Given the description of an element on the screen output the (x, y) to click on. 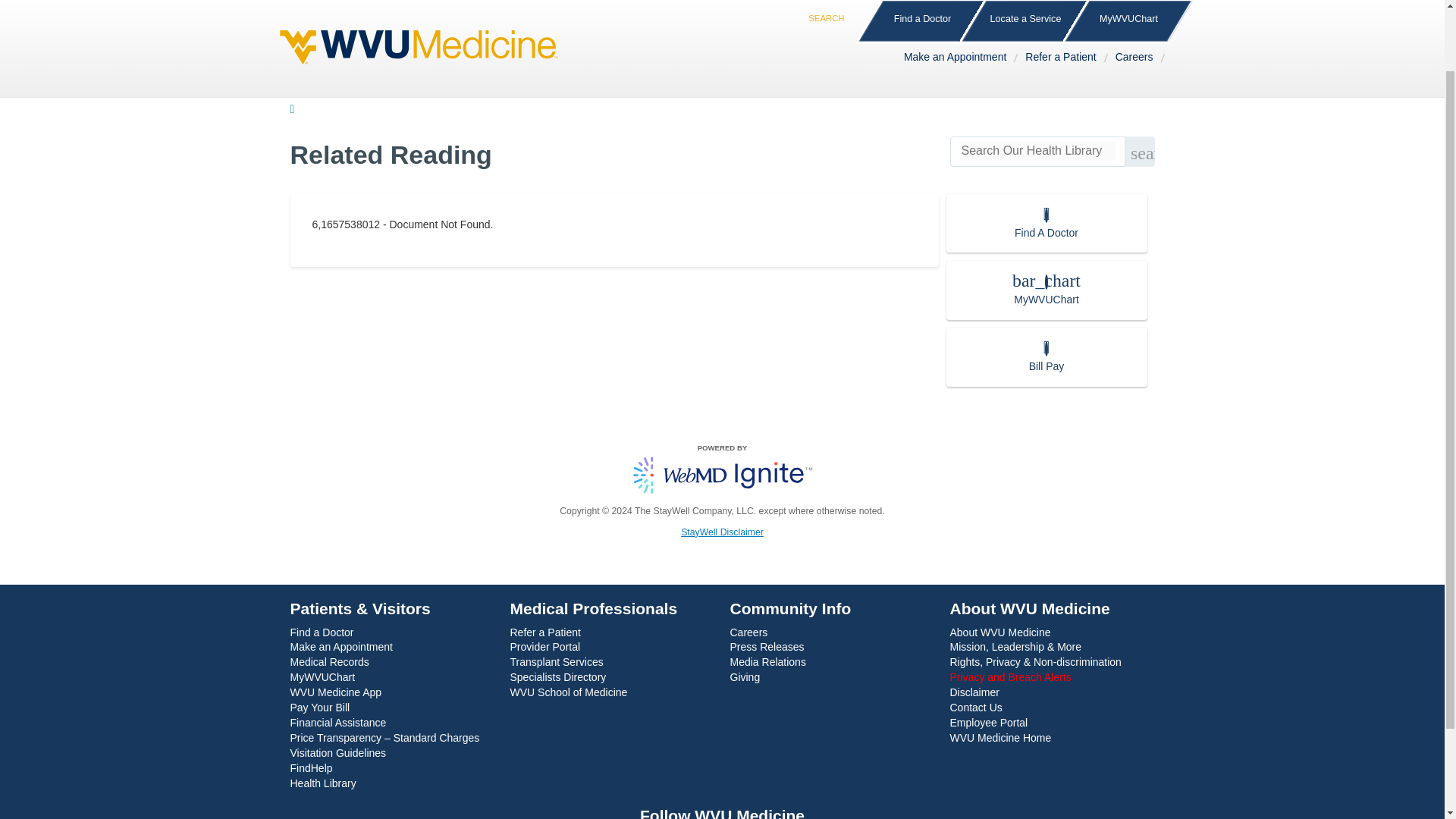
Careers (1137, 0)
Careers (1137, 0)
